Given the description of an element on the screen output the (x, y) to click on. 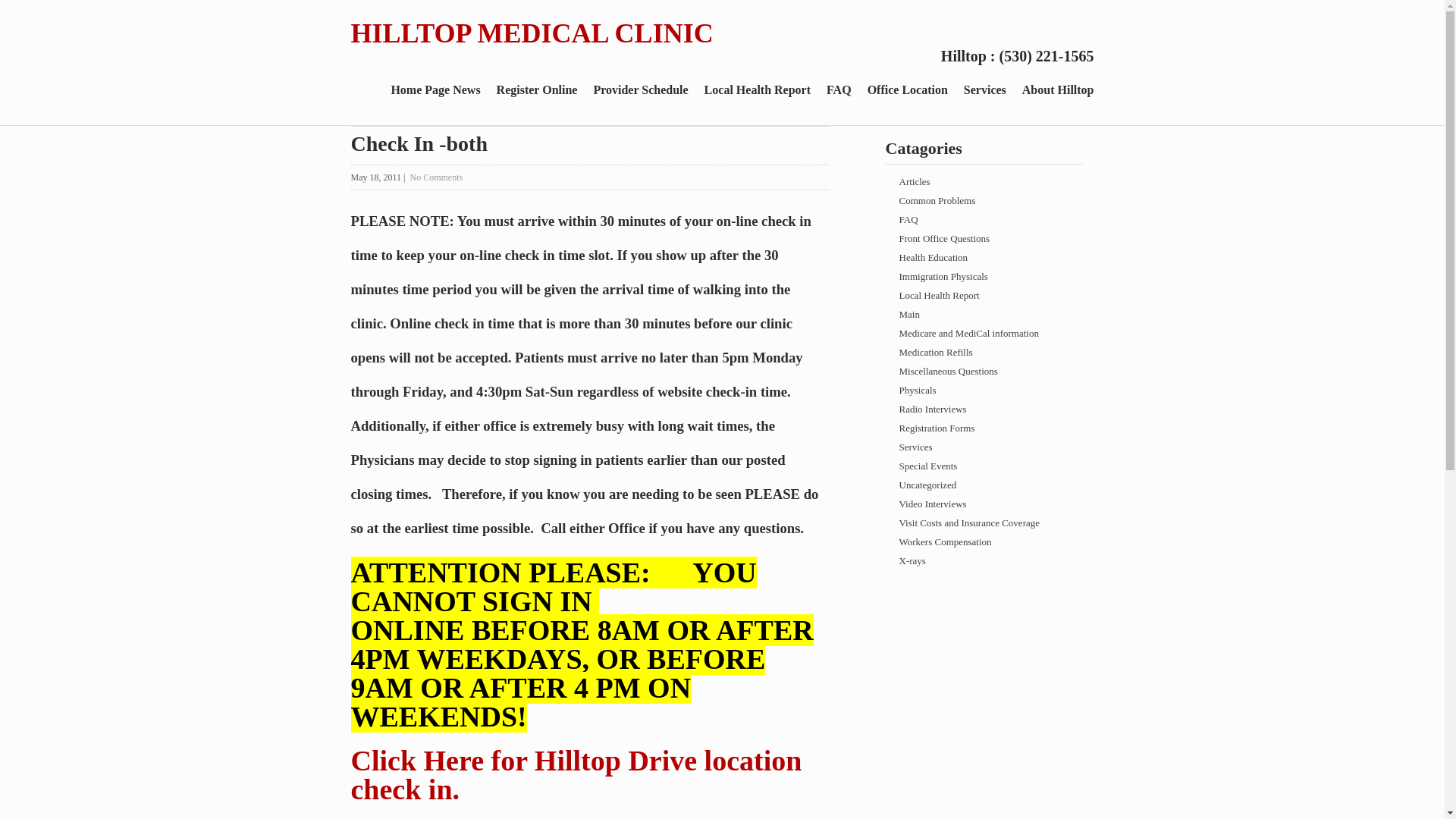
Home Page News (435, 92)
No Comments (436, 176)
Local Health Report (757, 92)
Front Office Questions (984, 238)
HILLTOP MEDICAL CLINIC (531, 32)
Office Location (907, 92)
Services (984, 92)
FAQ (984, 219)
Provider Schedule (640, 92)
About Hilltop (1058, 92)
